Given the description of an element on the screen output the (x, y) to click on. 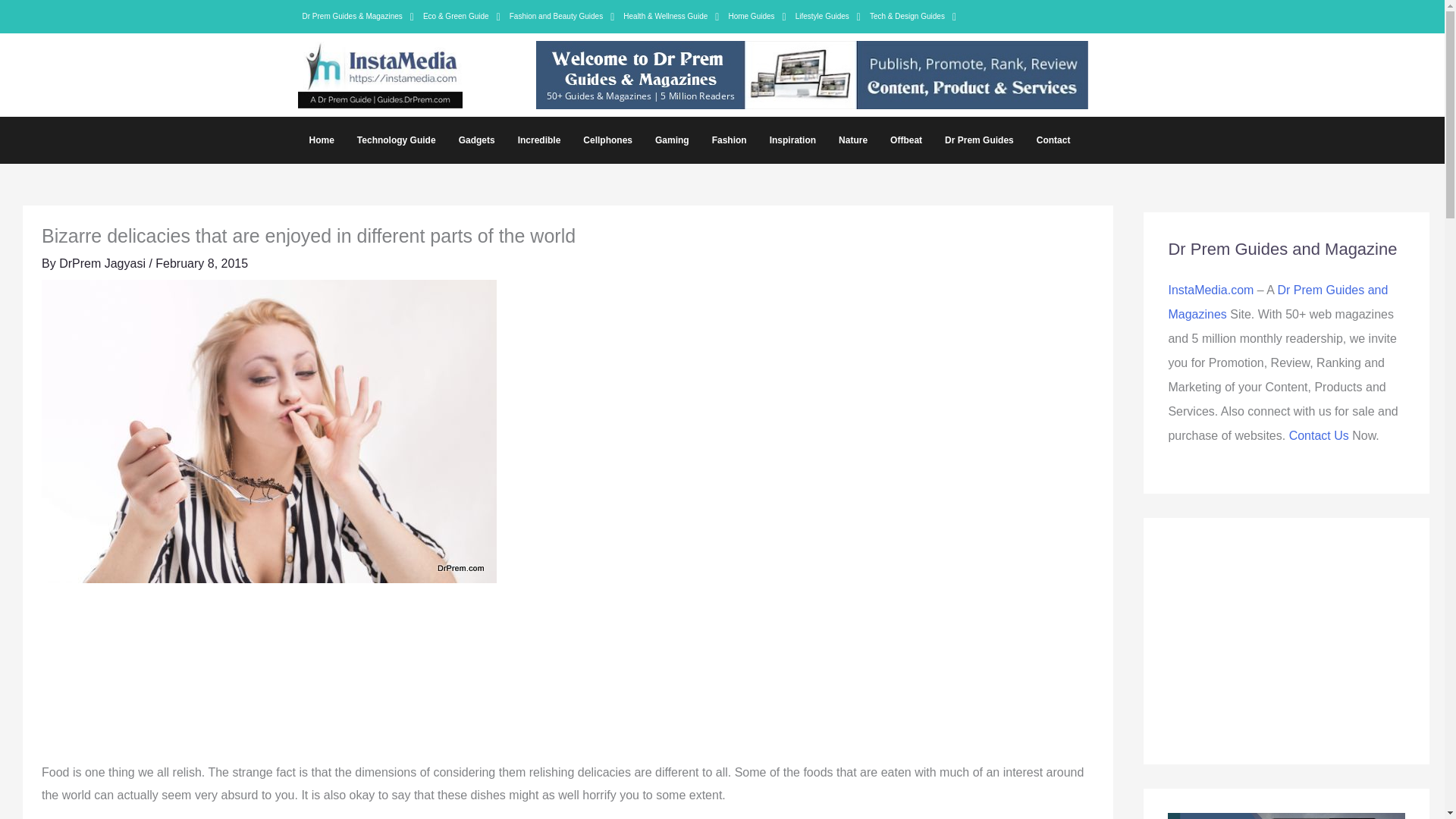
Home Guides (756, 16)
Fashion and Beauty Guides (562, 16)
View all posts by DrPrem Jagyasi (103, 263)
Lifestyle Guides (827, 16)
